Given the description of an element on the screen output the (x, y) to click on. 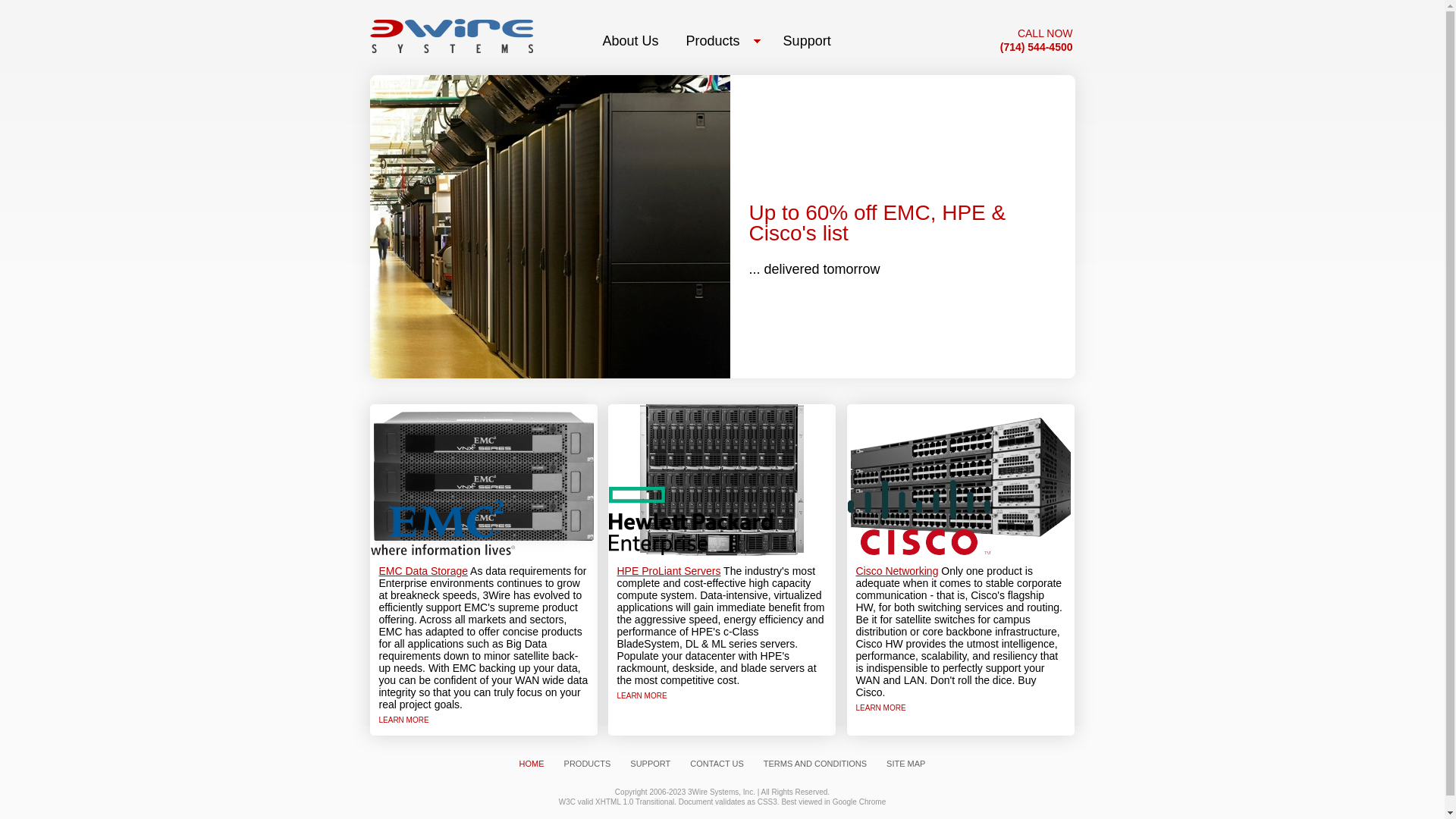
Cisco Networking Element type: text (896, 570)
PRODUCTS Element type: text (587, 763)
HPE ProLiant Servers Element type: text (669, 570)
SITE MAP Element type: text (905, 763)
SUPPORT Element type: text (650, 763)
LEARN MORE Element type: text (404, 719)
EMC Data Storage Element type: text (423, 570)
Google Chrome Element type: text (859, 801)
LEARN MORE Element type: text (880, 707)
 Support  Element type: text (806, 40)
LEARN MORE Element type: text (642, 695)
3Wire Systems Element type: text (451, 34)
CONTACT US Element type: text (716, 763)
HOME Element type: text (531, 763)
3Wire Systems, Inc. Element type: text (721, 791)
 About Us  Element type: text (630, 40)
TERMS AND CONDITIONS Element type: text (814, 763)
 Products  Element type: text (720, 40)
